Given the description of an element on the screen output the (x, y) to click on. 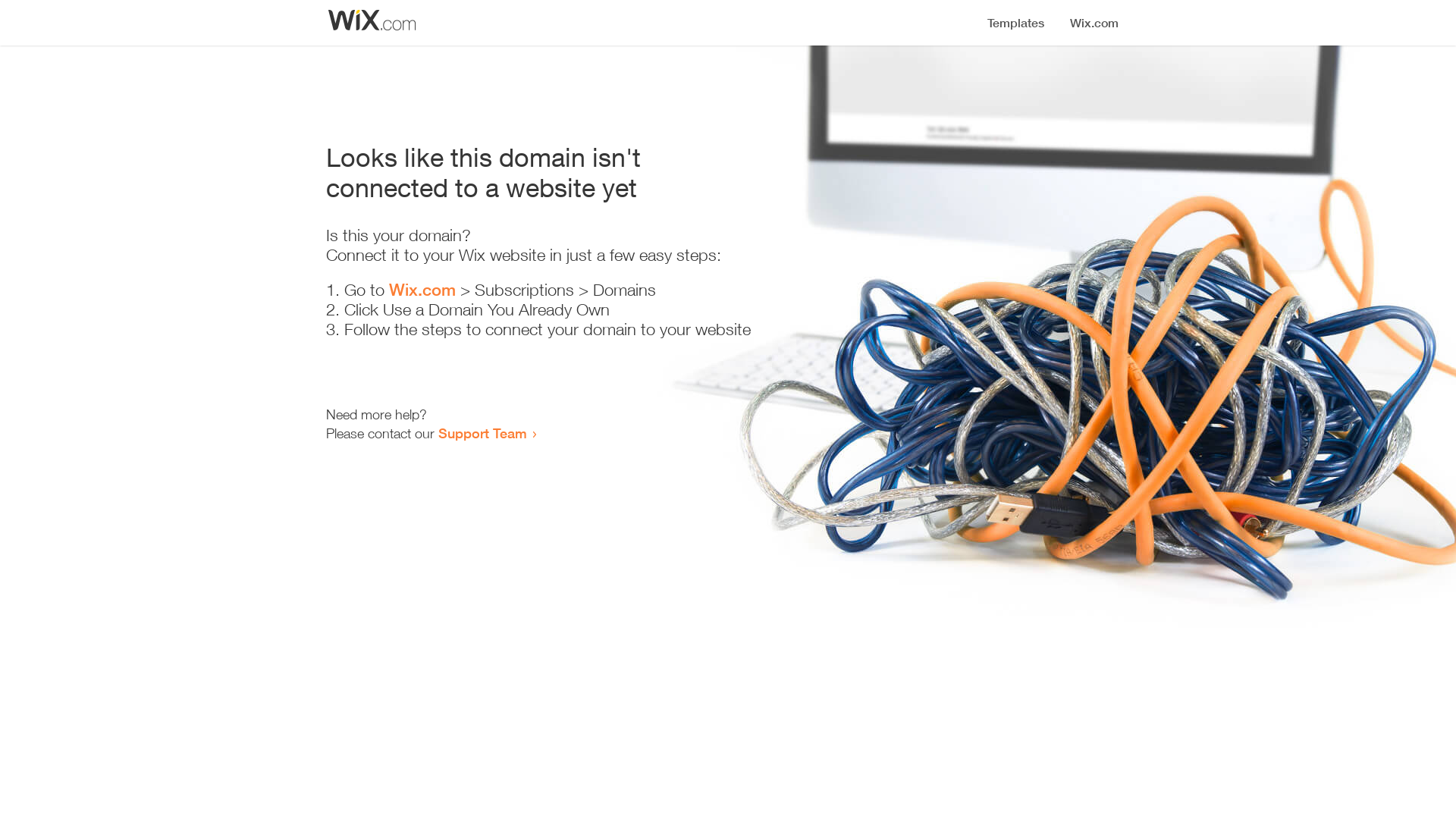
Wix.com Element type: text (422, 289)
Support Team Element type: text (482, 432)
